Given the description of an element on the screen output the (x, y) to click on. 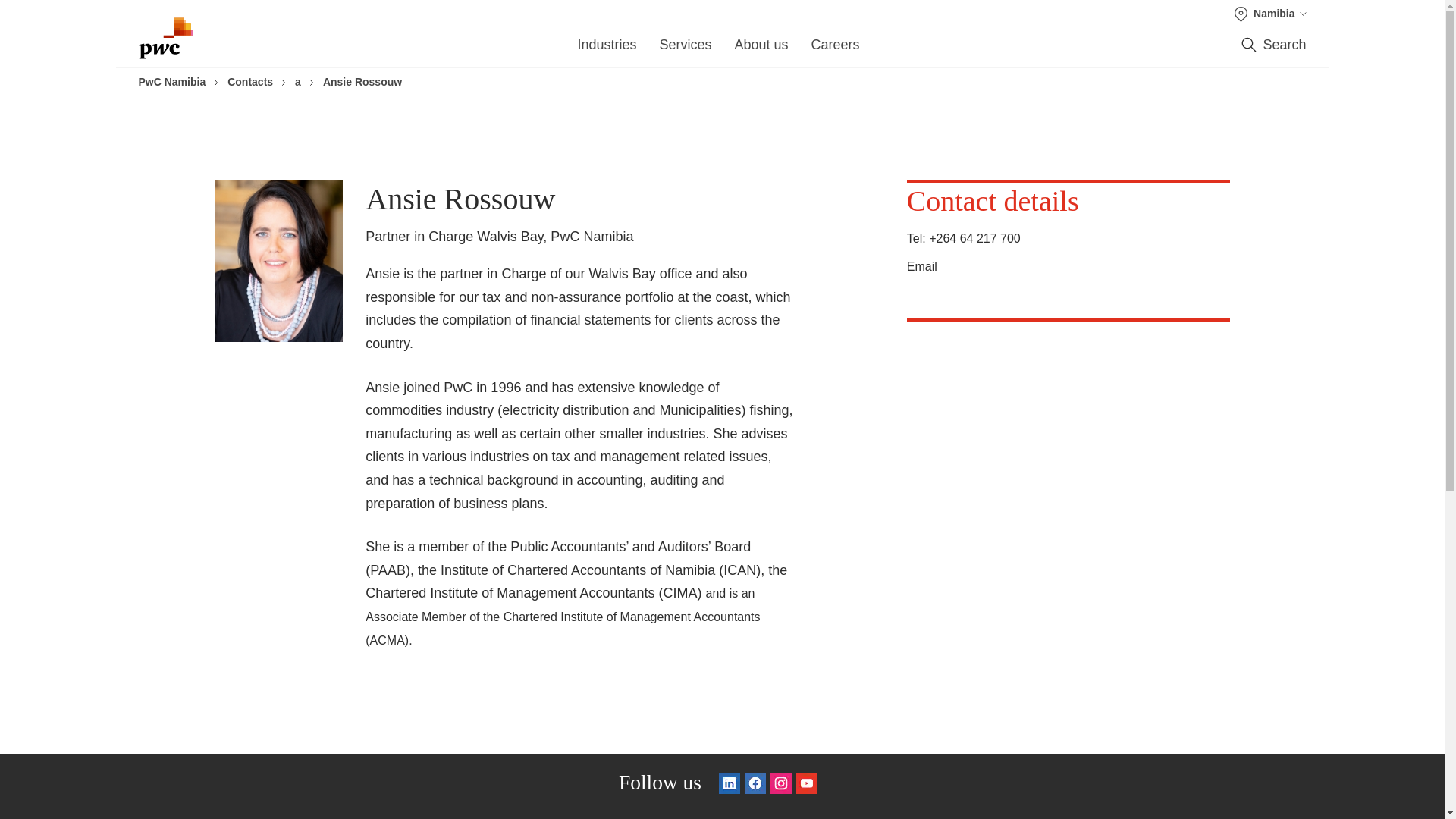
Services (685, 49)
Industries (606, 49)
About us (760, 49)
Careers (835, 49)
Namibia (1270, 13)
